Given the description of an element on the screen output the (x, y) to click on. 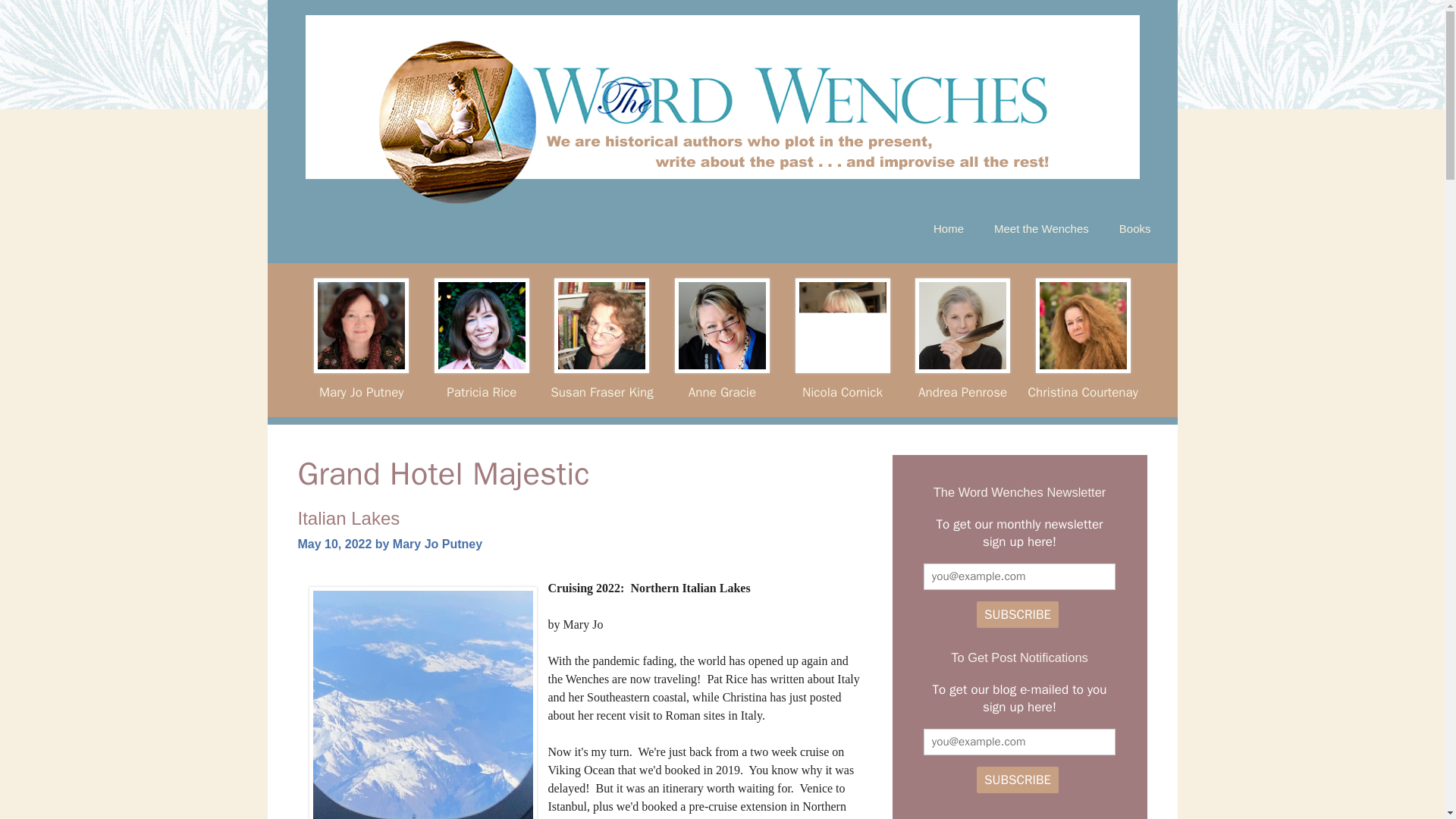
Italian Lakes (347, 517)
Mary Jo Putney (437, 543)
Home (948, 228)
Subscribe (1017, 614)
Meet the Wenches (1040, 228)
Christina Courtenay (1082, 391)
Nicola Cornick (842, 391)
Susan Fraser King (601, 391)
View all posts by Mary Jo Putney (437, 543)
Books (1134, 228)
